Given the description of an element on the screen output the (x, y) to click on. 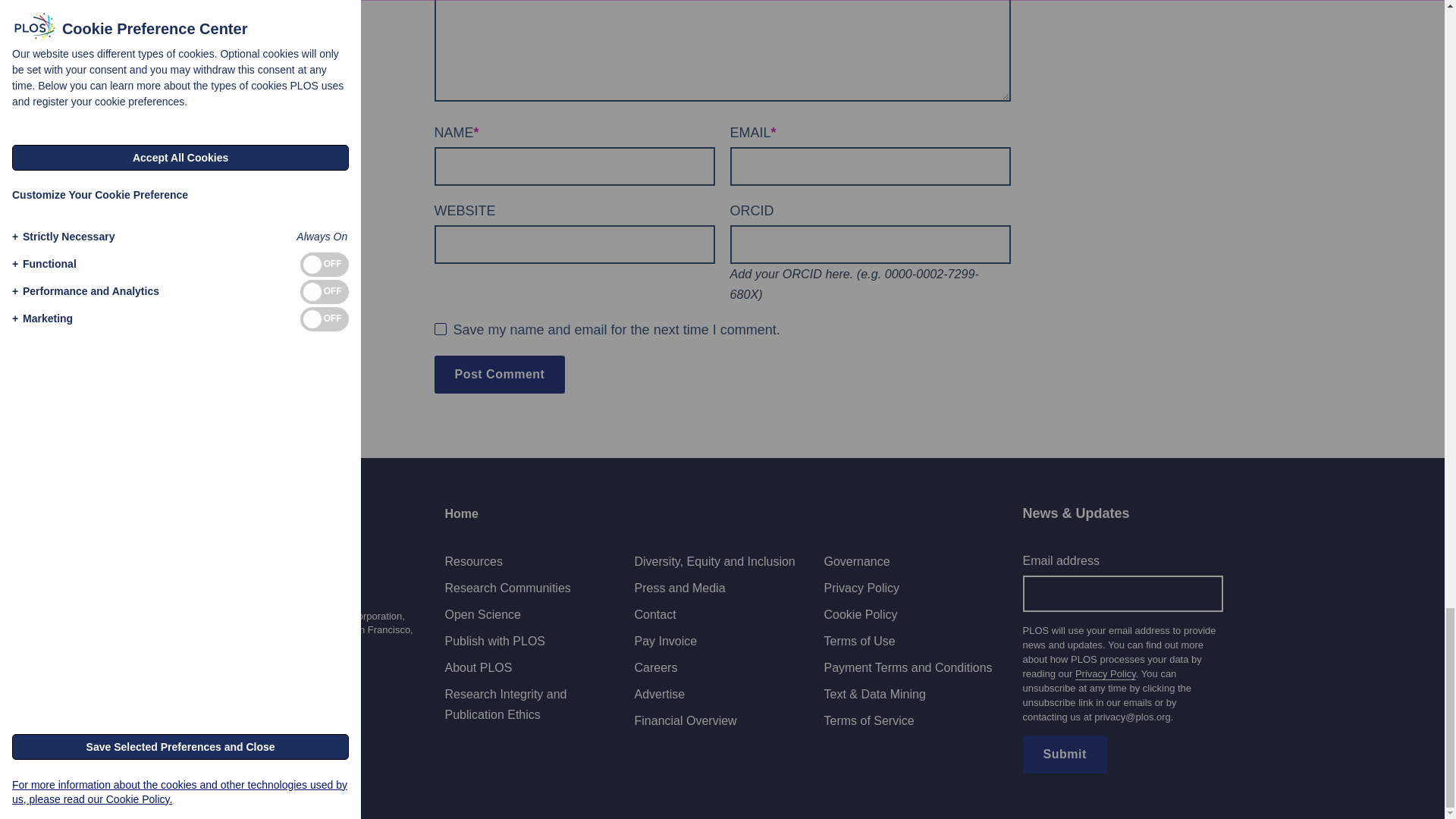
Submit (1064, 754)
Post Comment (498, 374)
yes (439, 328)
